Given the description of an element on the screen output the (x, y) to click on. 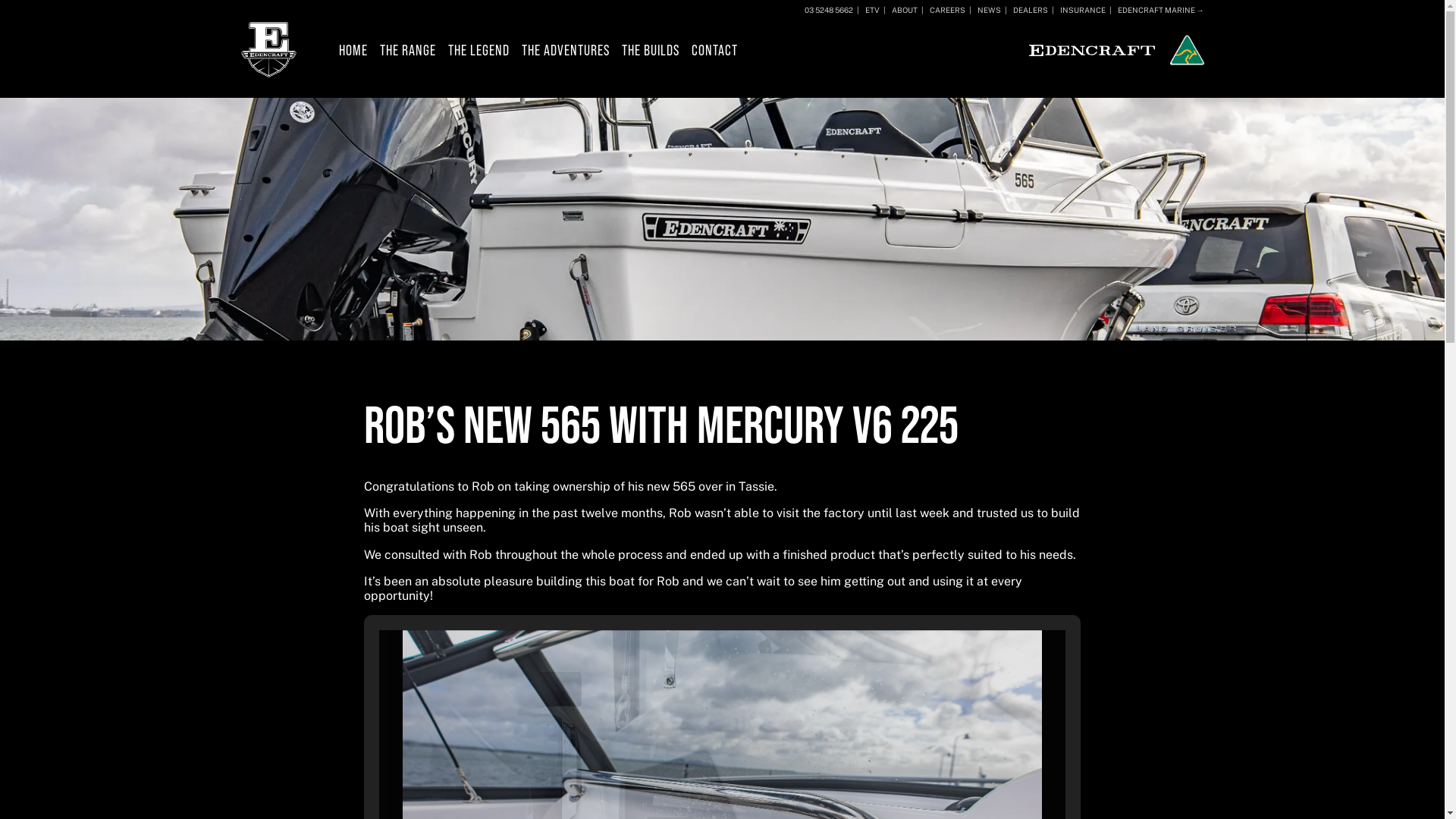
CONTACT Element type: text (714, 48)
THE BUILDS Element type: text (650, 48)
ETV Element type: text (867, 9)
HOME Element type: text (352, 48)
NEWS Element type: text (985, 9)
CAREERS Element type: text (942, 9)
THE LEGEND Element type: text (477, 48)
ABOUT Element type: text (899, 9)
INSURANCE Element type: text (1077, 9)
03 5248 5662 Element type: text (827, 9)
THE ADVENTURES Element type: text (565, 48)
THE RANGE Element type: text (407, 48)
DEALERS Element type: text (1025, 9)
